Given the description of an element on the screen output the (x, y) to click on. 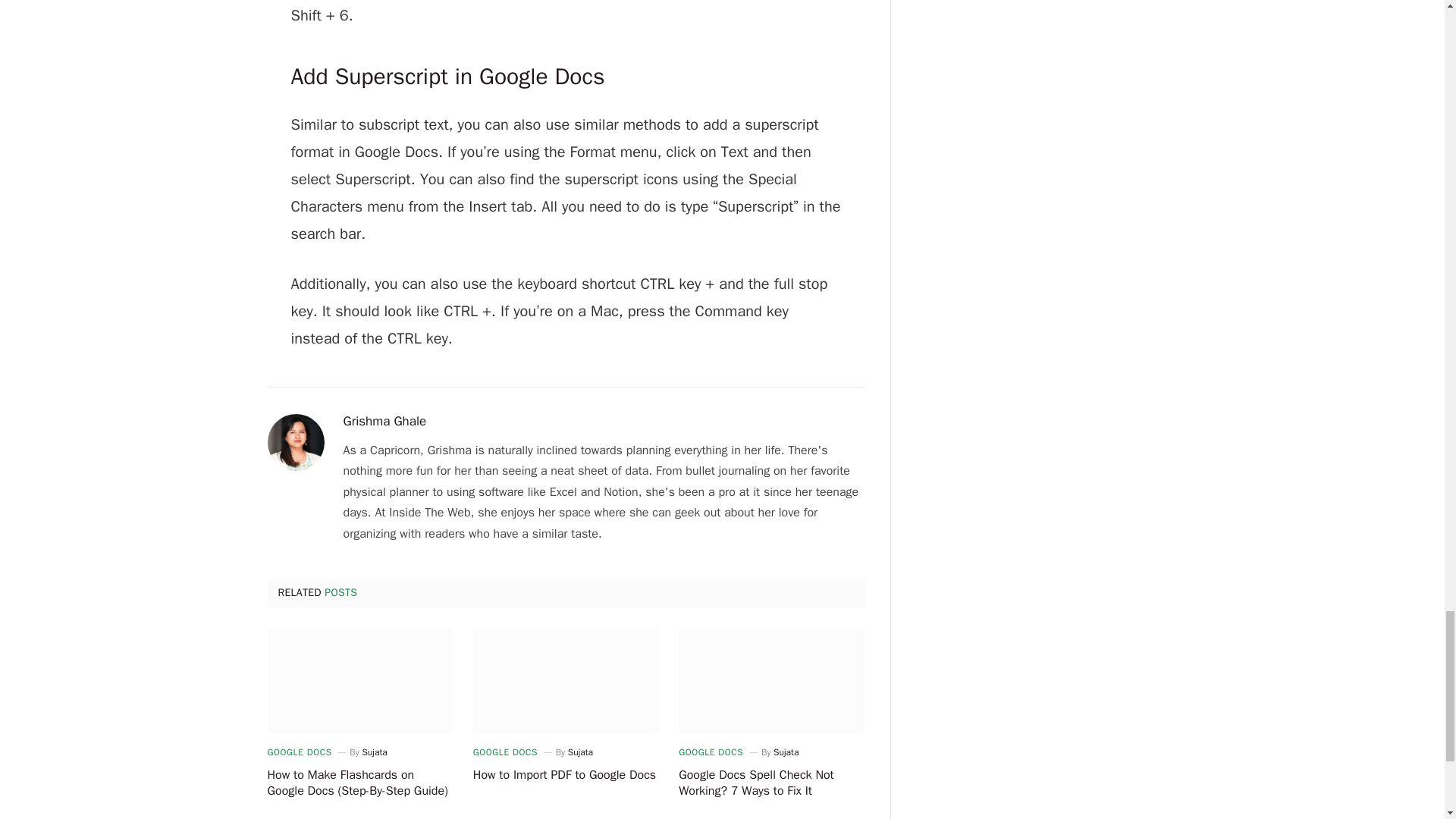
Posts by Sujata (579, 752)
Posts by Grishma Ghale (384, 421)
Grishma Ghale (384, 421)
Sujata (785, 752)
How to Import PDF to Google Docs (566, 775)
GOOGLE DOCS (298, 752)
Posts by Sujata (374, 752)
How to Import PDF to Google Docs (566, 680)
Sujata (579, 752)
Google Docs Spell Check Not Working? 7 Ways to Fix It (771, 680)
GOOGLE DOCS (505, 752)
Sujata (374, 752)
Posts by Sujata (785, 752)
GOOGLE DOCS (710, 752)
